Given the description of an element on the screen output the (x, y) to click on. 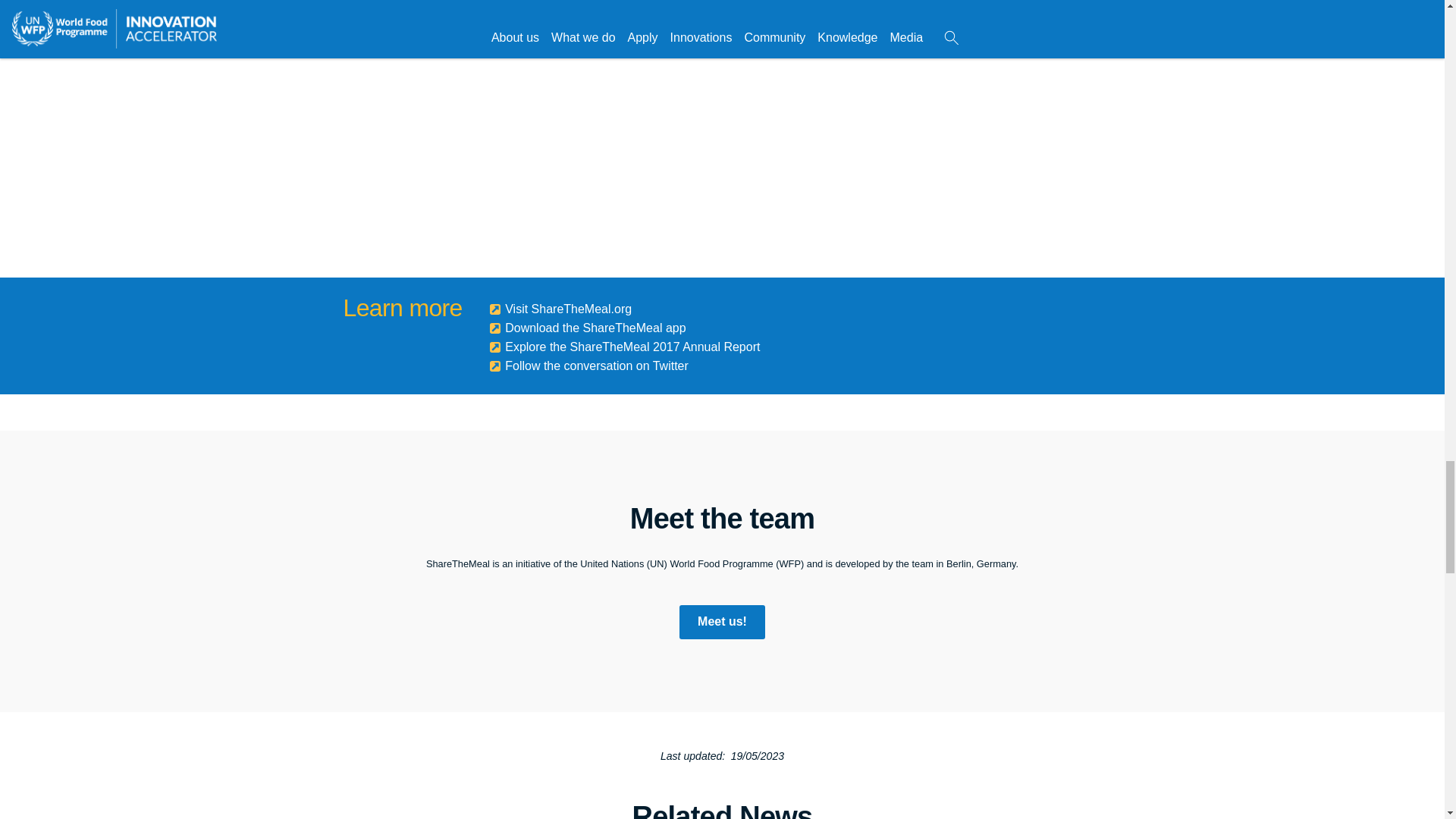
Explore the ShareTheMeal 2017 Annual Report (624, 346)
Meet us! (722, 621)
Download the ShareTheMeal app (587, 327)
Follow the conversation on Twitter (588, 365)
Visit ShareTheMeal.org (560, 308)
